Given the description of an element on the screen output the (x, y) to click on. 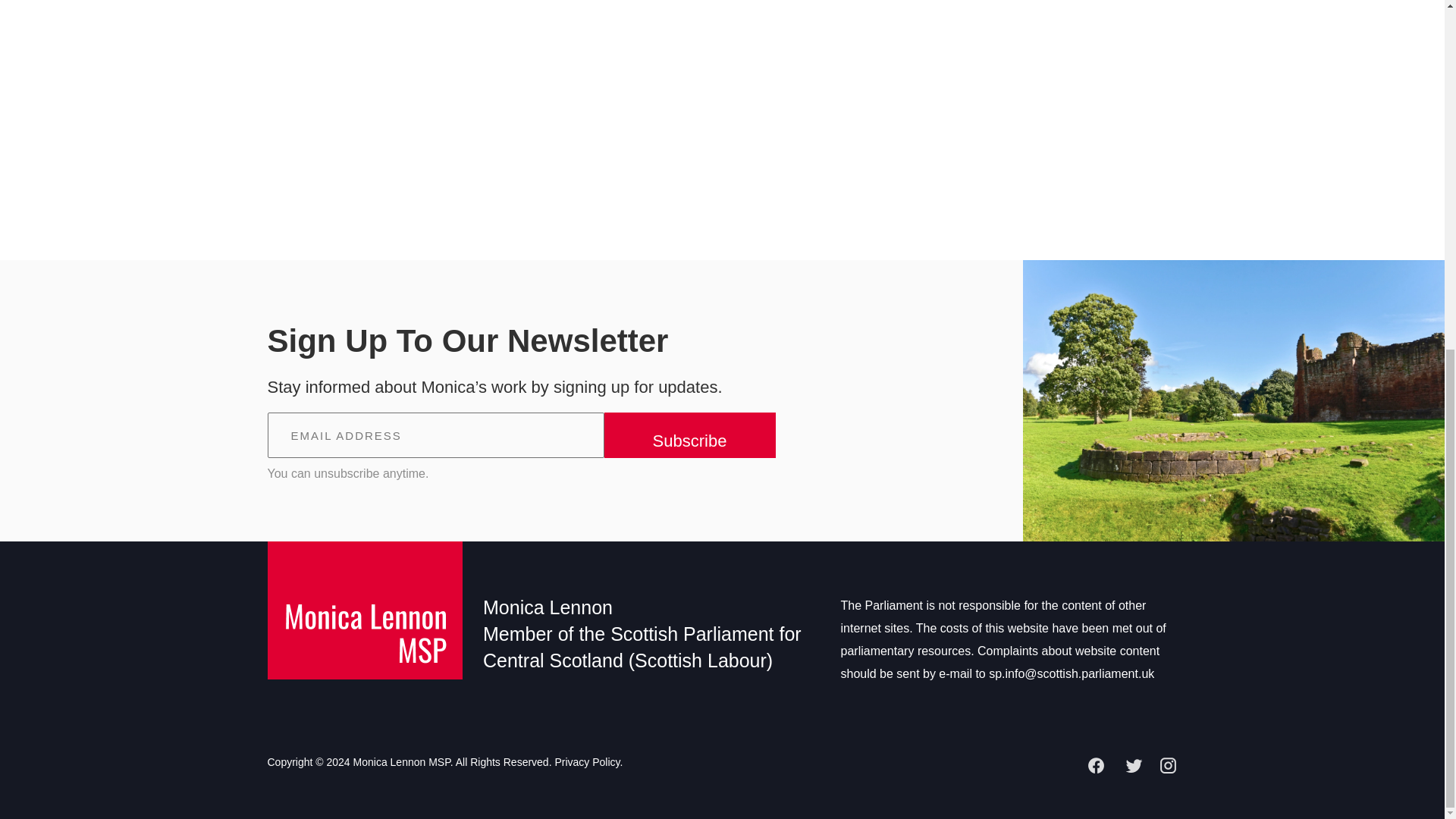
Subscribe (689, 434)
Subscribe (689, 434)
